Given the description of an element on the screen output the (x, y) to click on. 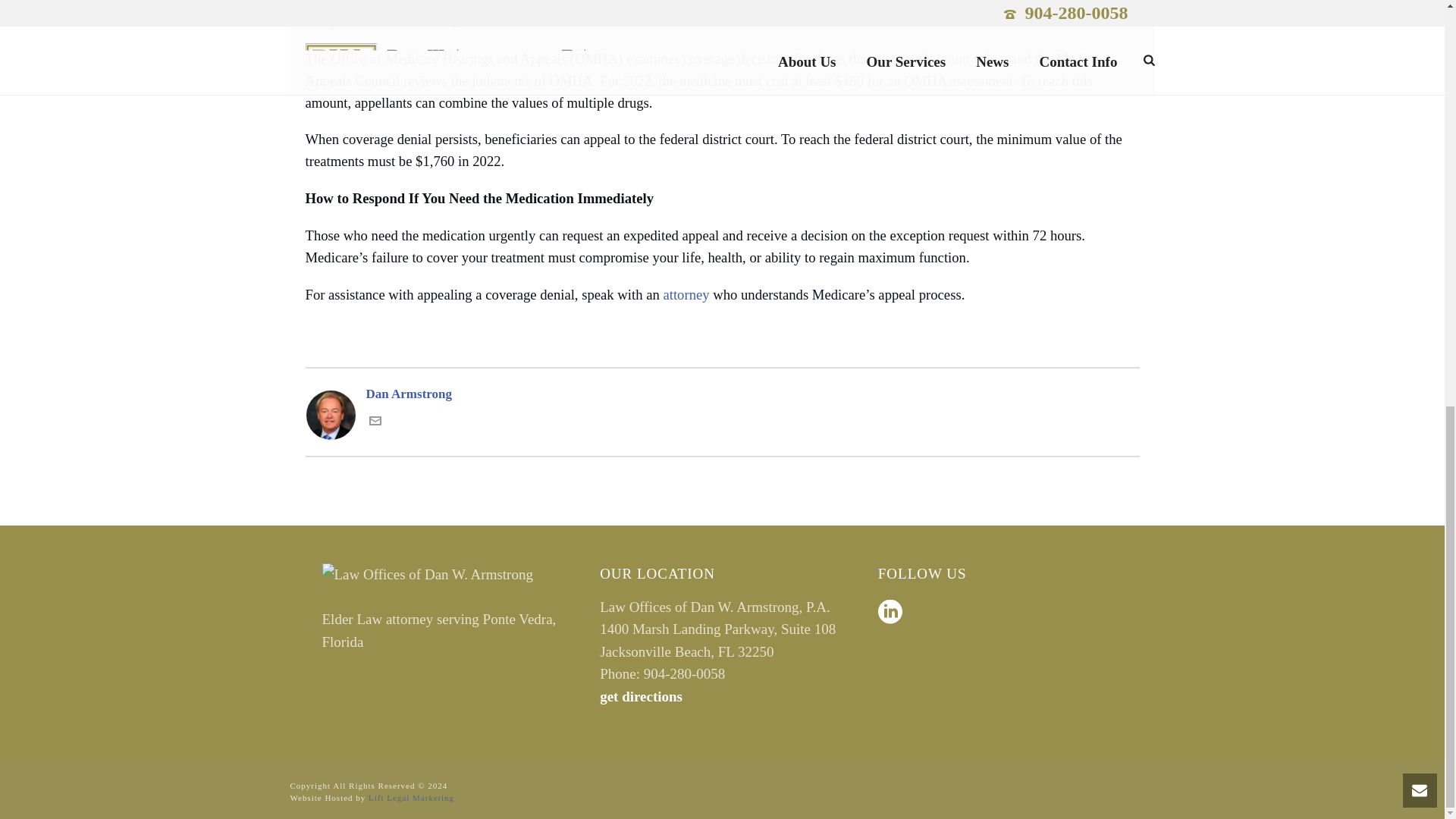
attorney (685, 294)
get directions (640, 696)
Follow Us on linkedin (889, 612)
Dan Armstrong (721, 394)
Lift Legal Marketing (411, 797)
